Given the description of an element on the screen output the (x, y) to click on. 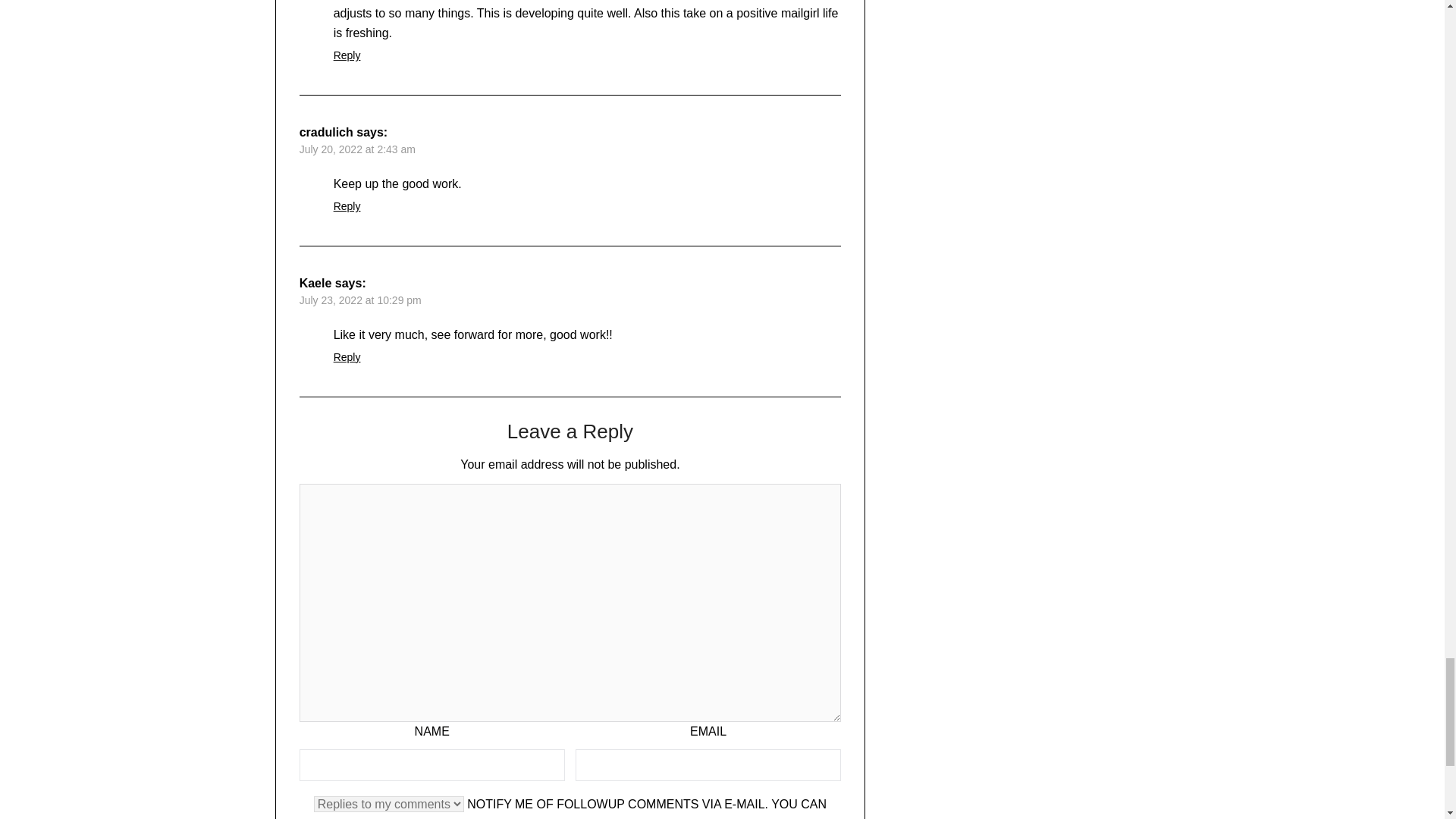
Reply (347, 205)
July 20, 2022 at 2:43 am (356, 149)
SUBSCRIBE (512, 818)
Reply (347, 55)
Reply (347, 357)
July 23, 2022 at 10:29 pm (360, 300)
